Given the description of an element on the screen output the (x, y) to click on. 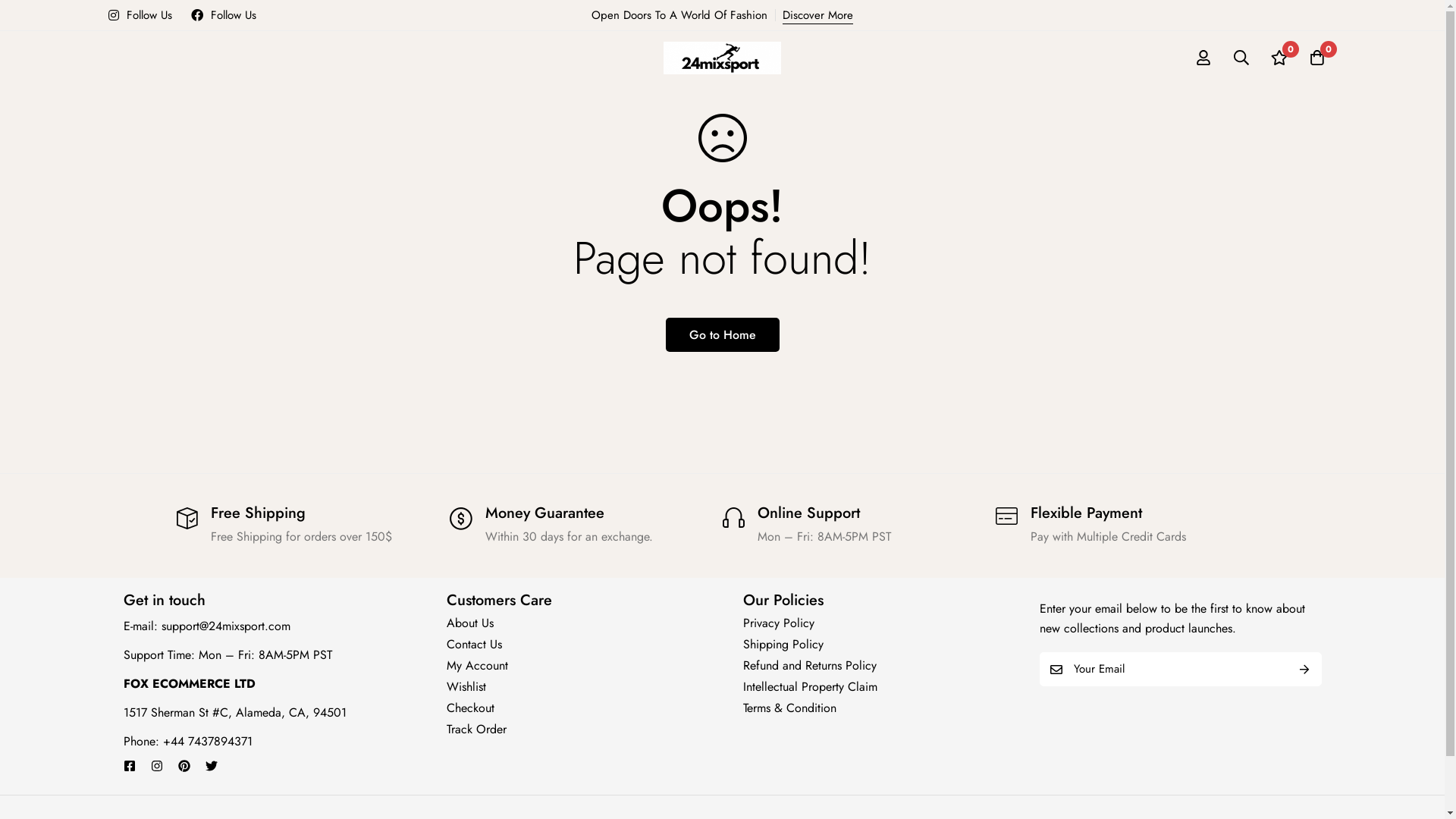
Shipping Policy Element type: text (783, 643)
Subscribe Element type: text (1304, 669)
Checkout Element type: text (470, 707)
Discover More Element type: text (817, 14)
Go to Home Element type: text (722, 334)
1 Element type: text (721, 525)
Follow Us Element type: text (139, 14)
Contact Us Element type: text (474, 643)
Intellectual Property Claim Element type: text (810, 686)
0 Element type: text (1279, 57)
Privacy Policy Element type: text (778, 622)
Customers Care Element type: text (499, 600)
Get in touch Element type: text (163, 600)
Wishlist Element type: text (466, 686)
Our Policies Element type: text (783, 600)
About Us Element type: text (469, 622)
Follow Us Element type: text (223, 14)
Refund and Returns Policy Element type: text (809, 665)
Terms & Condition Element type: text (789, 707)
Track Order Element type: text (476, 728)
Apply coupon Element type: text (721, 462)
0 Element type: text (1317, 57)
My Account Element type: text (477, 665)
